Given the description of an element on the screen output the (x, y) to click on. 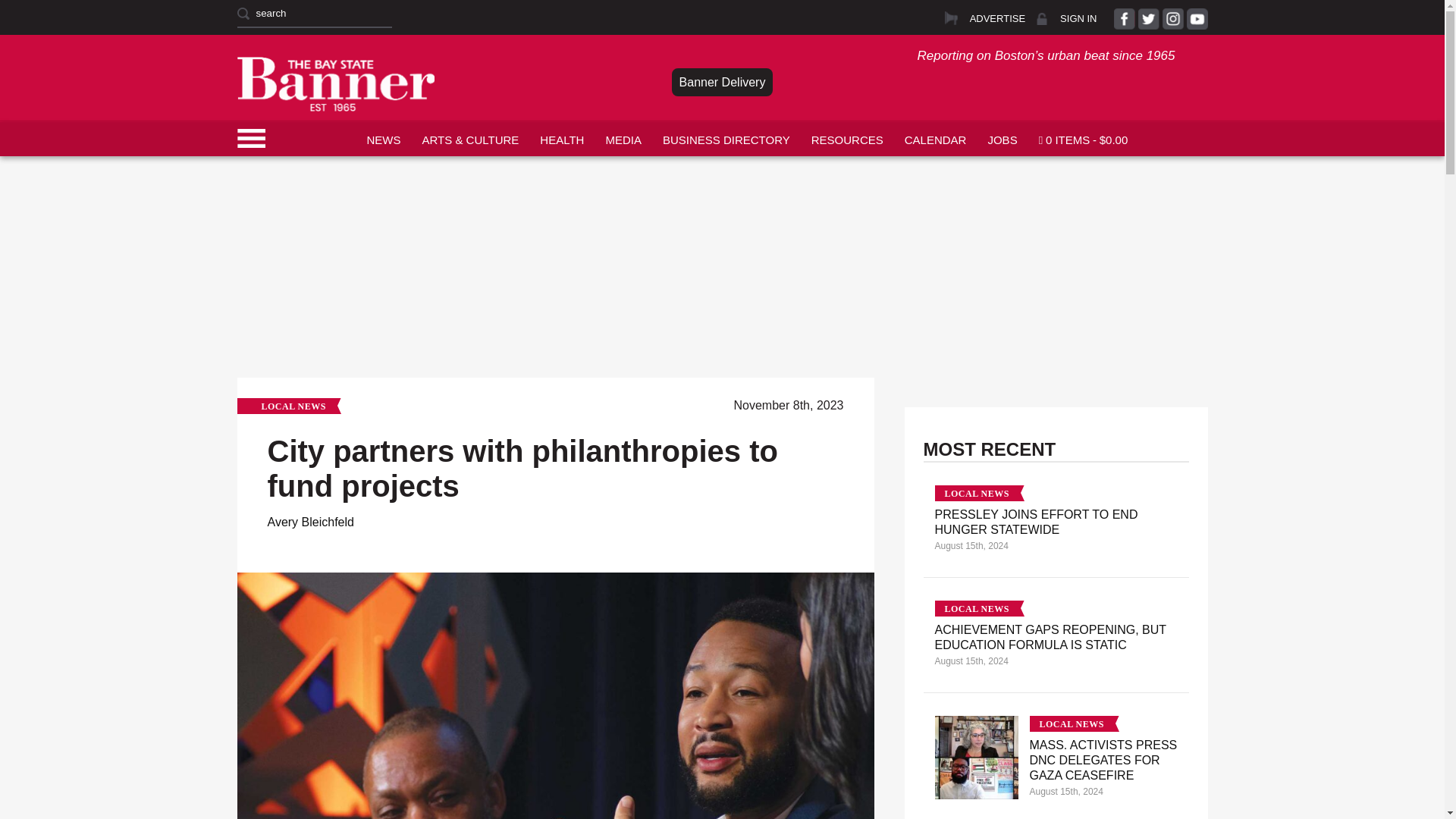
The Bay State Banner (334, 83)
Start shopping (1082, 138)
